Given the description of an element on the screen output the (x, y) to click on. 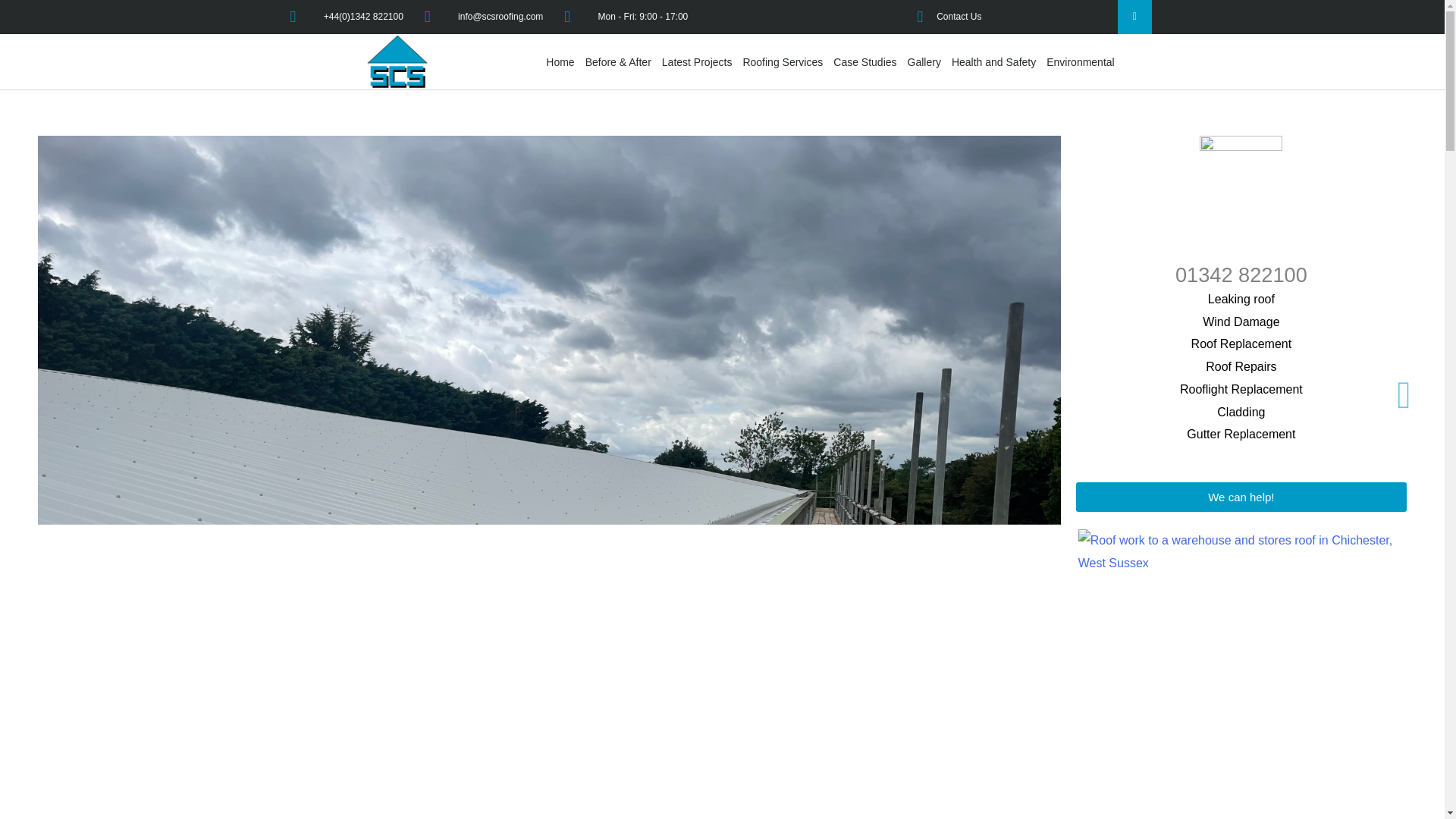
Environmental (1080, 61)
Roofing Services (782, 61)
Health and Safety (993, 61)
Latest Projects (697, 61)
Case Studies (864, 61)
Home (559, 61)
Contact Us (941, 16)
Facebook (1134, 17)
Gallery (924, 61)
